Given the description of an element on the screen output the (x, y) to click on. 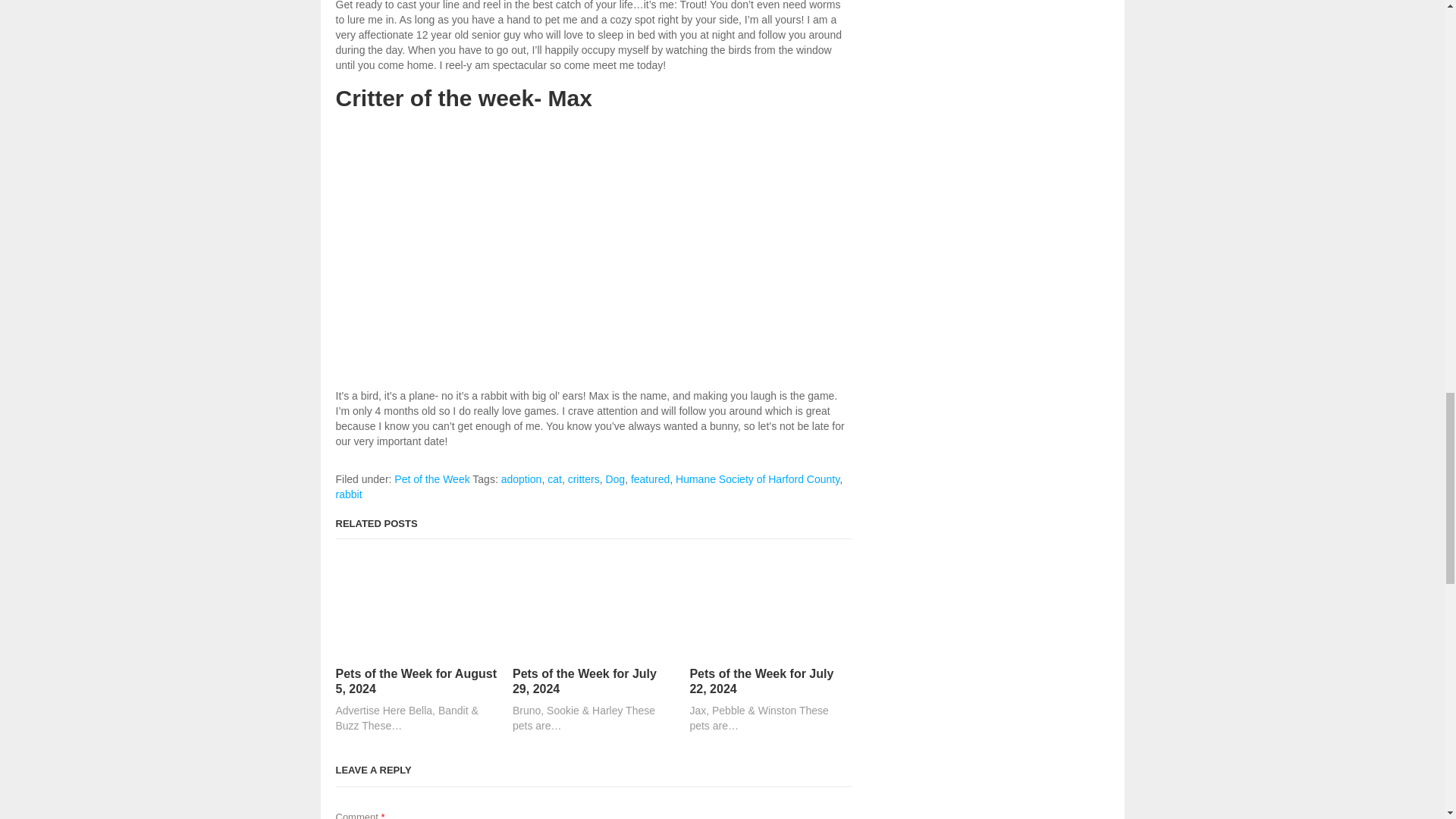
Pet of the Week (431, 479)
